Given the description of an element on the screen output the (x, y) to click on. 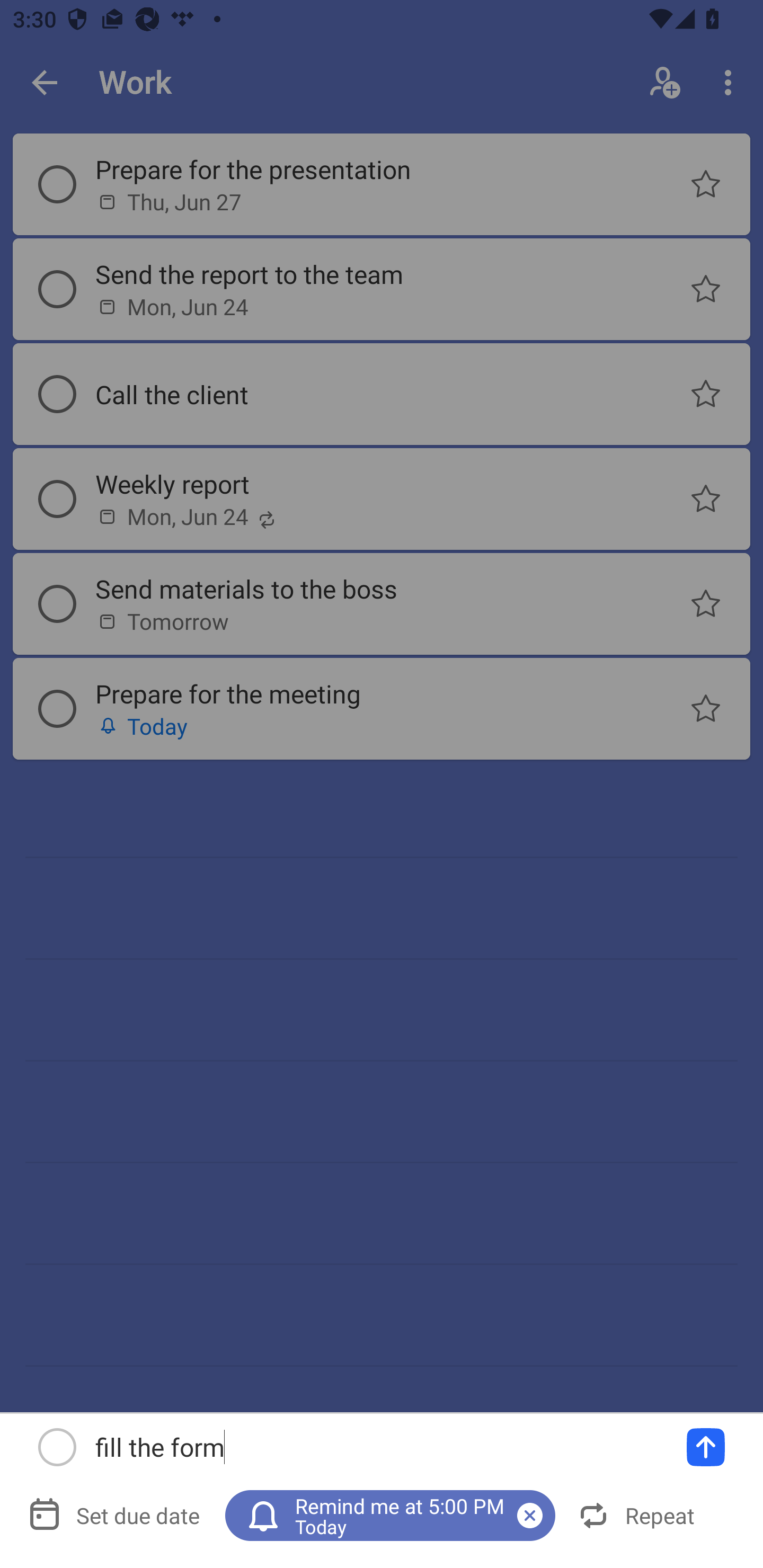
Add a task (705, 1446)
